Given the description of an element on the screen output the (x, y) to click on. 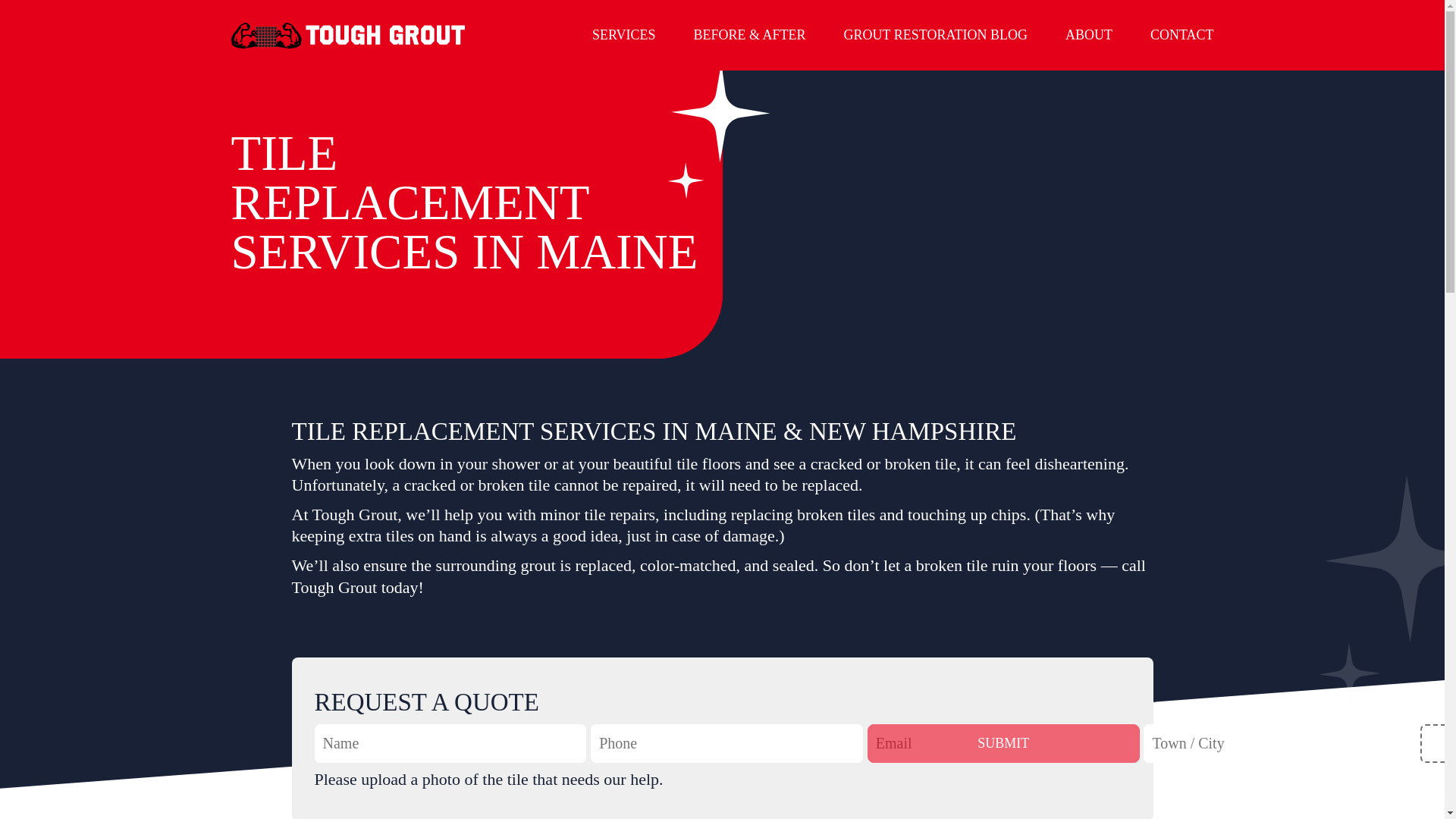
SERVICES (624, 35)
Submit (1003, 742)
CONTACT (1182, 35)
GROUT RESTORATION BLOG (935, 35)
Submit (1003, 742)
logo - Tough Grout (347, 35)
